Given the description of an element on the screen output the (x, y) to click on. 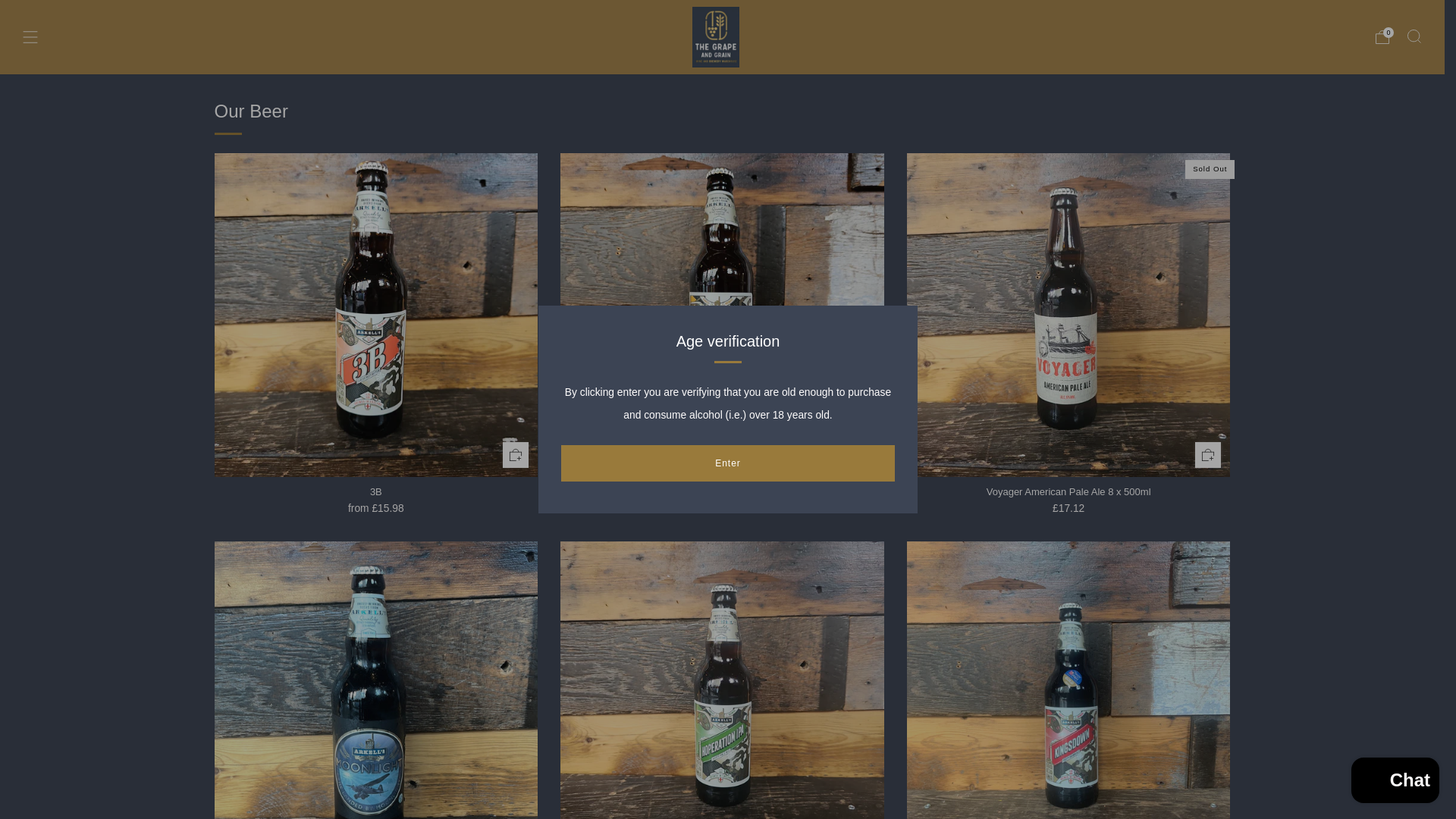
Wiltshire Gold (721, 492)
3B (375, 492)
0 (1382, 37)
Voyager American Pale Ale 8 x 500ml (1068, 508)
Voyager American Pale Ale 8 x 500ml (1068, 492)
3B (375, 508)
Wiltshire Gold (721, 508)
3B (375, 492)
Wiltshire Gold (721, 492)
Enter (727, 463)
